Given the description of an element on the screen output the (x, y) to click on. 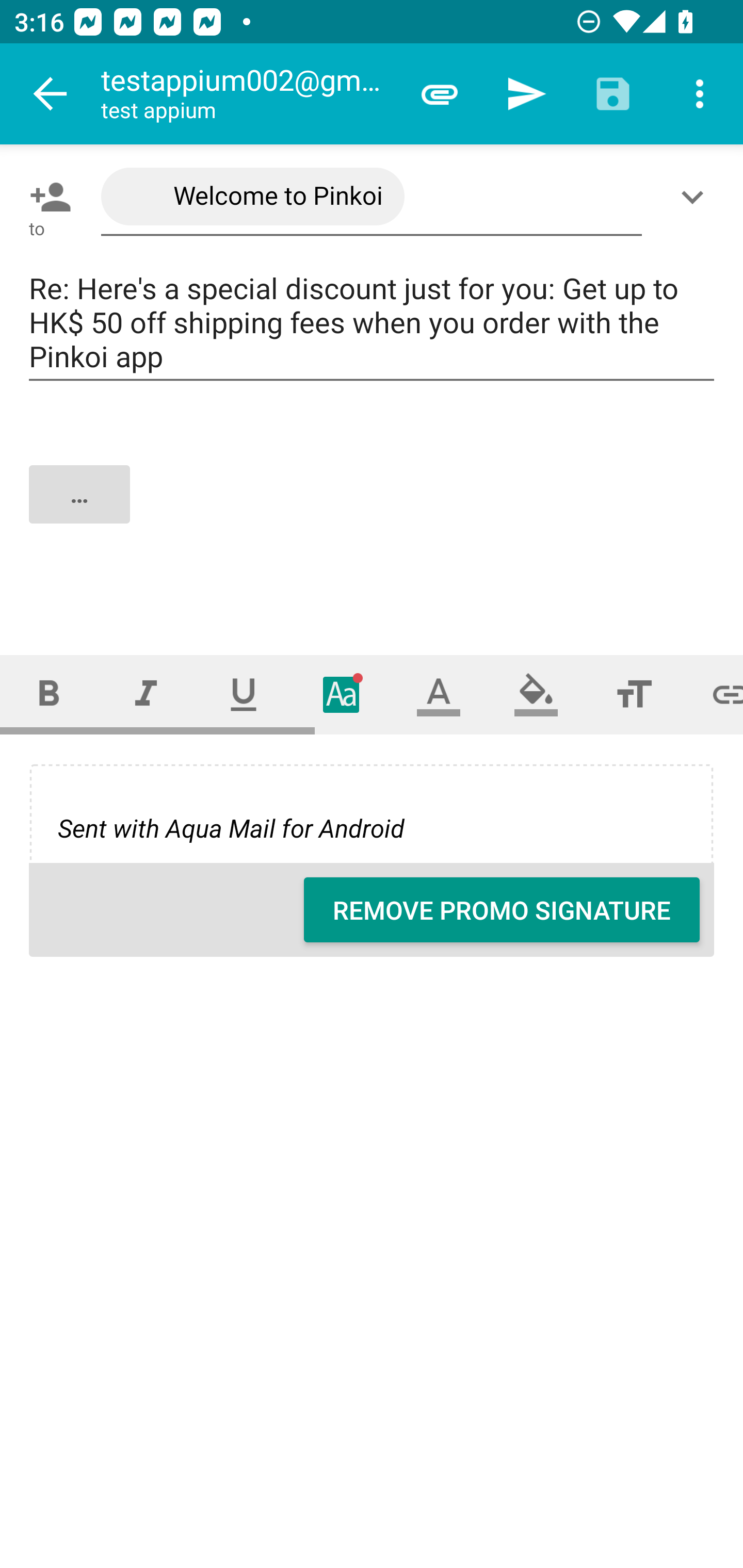
Navigate up (50, 93)
testappium002@gmail.com test appium (248, 93)
Attach (439, 93)
Send (525, 93)
Save (612, 93)
More options (699, 93)
Welcome to Pinkoi <noreply-promo@pinkoi.com>,  (371, 197)
Pick contact: To (46, 196)
Show/Add CC/BCC (696, 196)

…
 (372, 511)
Bold (48, 694)
Italic (145, 694)
Underline (243, 694)
Typeface (font) (341, 694)
Text color (438, 694)
Fill color (536, 694)
Font size (633, 694)
REMOVE PROMO SIGNATURE (501, 910)
